Given the description of an element on the screen output the (x, y) to click on. 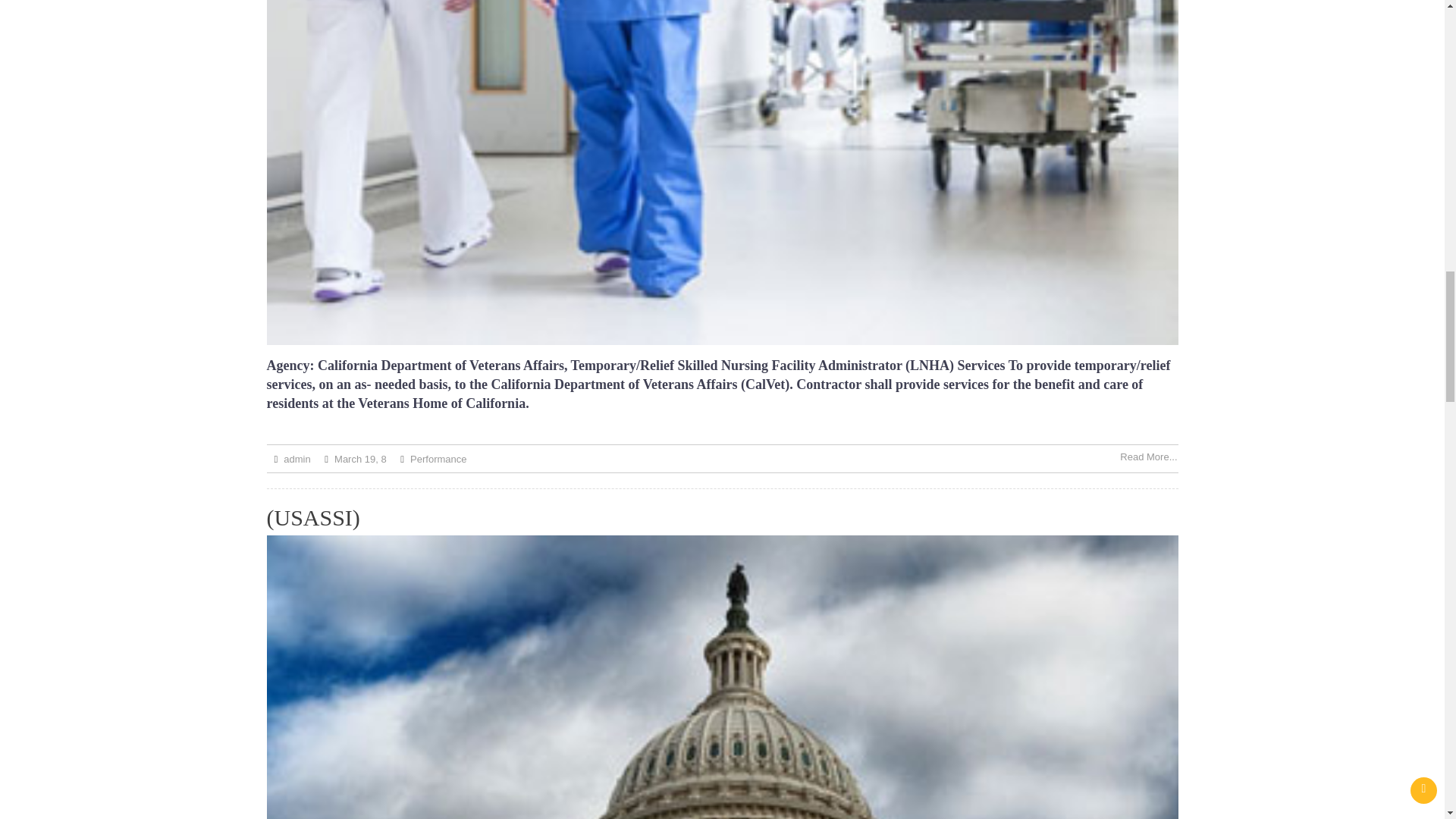
Performance (437, 459)
admin (296, 459)
March 19, 8 (360, 459)
Read More... (1147, 456)
